Given the description of an element on the screen output the (x, y) to click on. 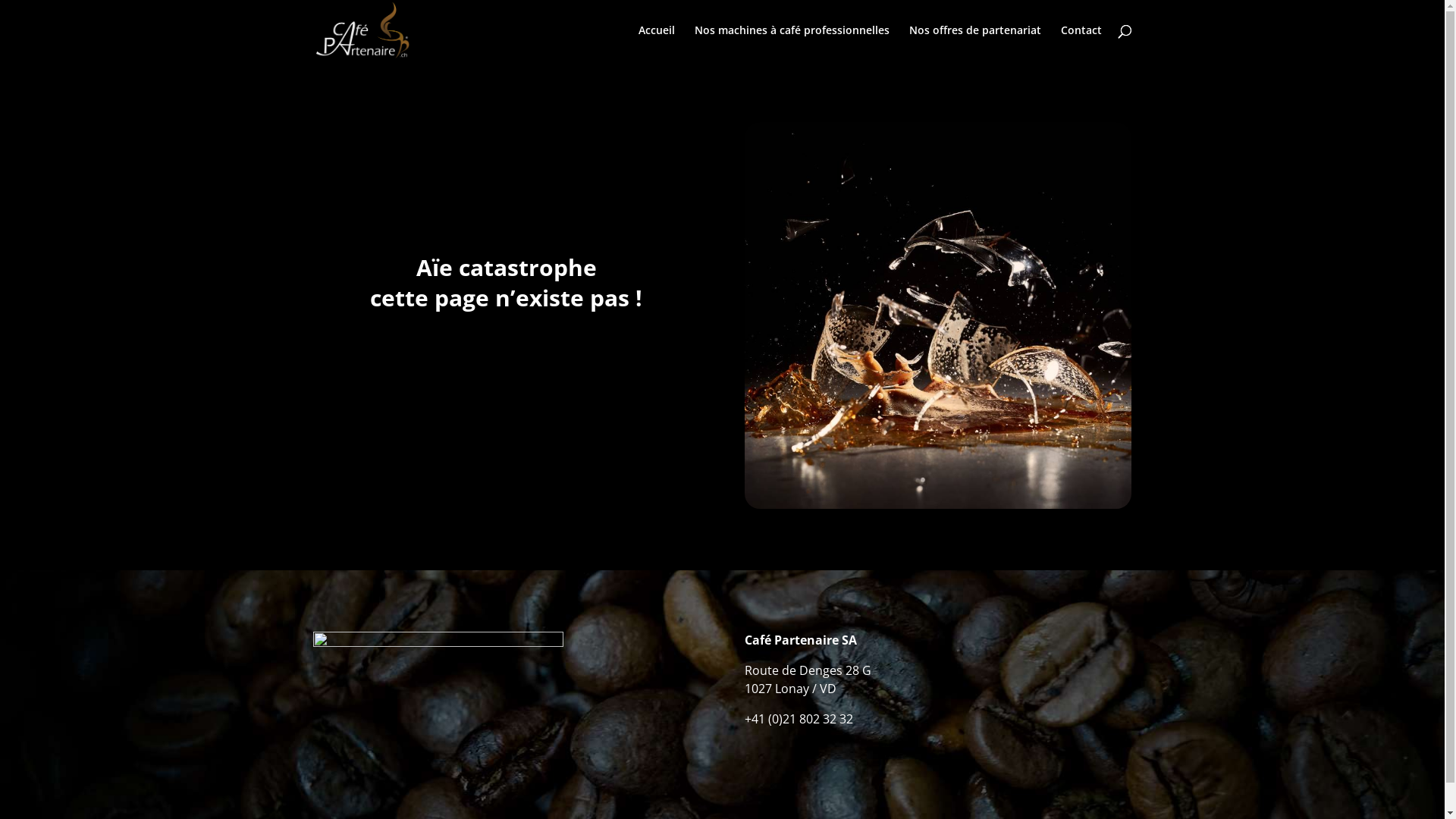
Accueil Element type: text (656, 42)
Nos offres de partenariat Element type: text (974, 42)
logo-bas-page Element type: hover (437, 707)
Contact Element type: text (1080, 42)
